Given the description of an element on the screen output the (x, y) to click on. 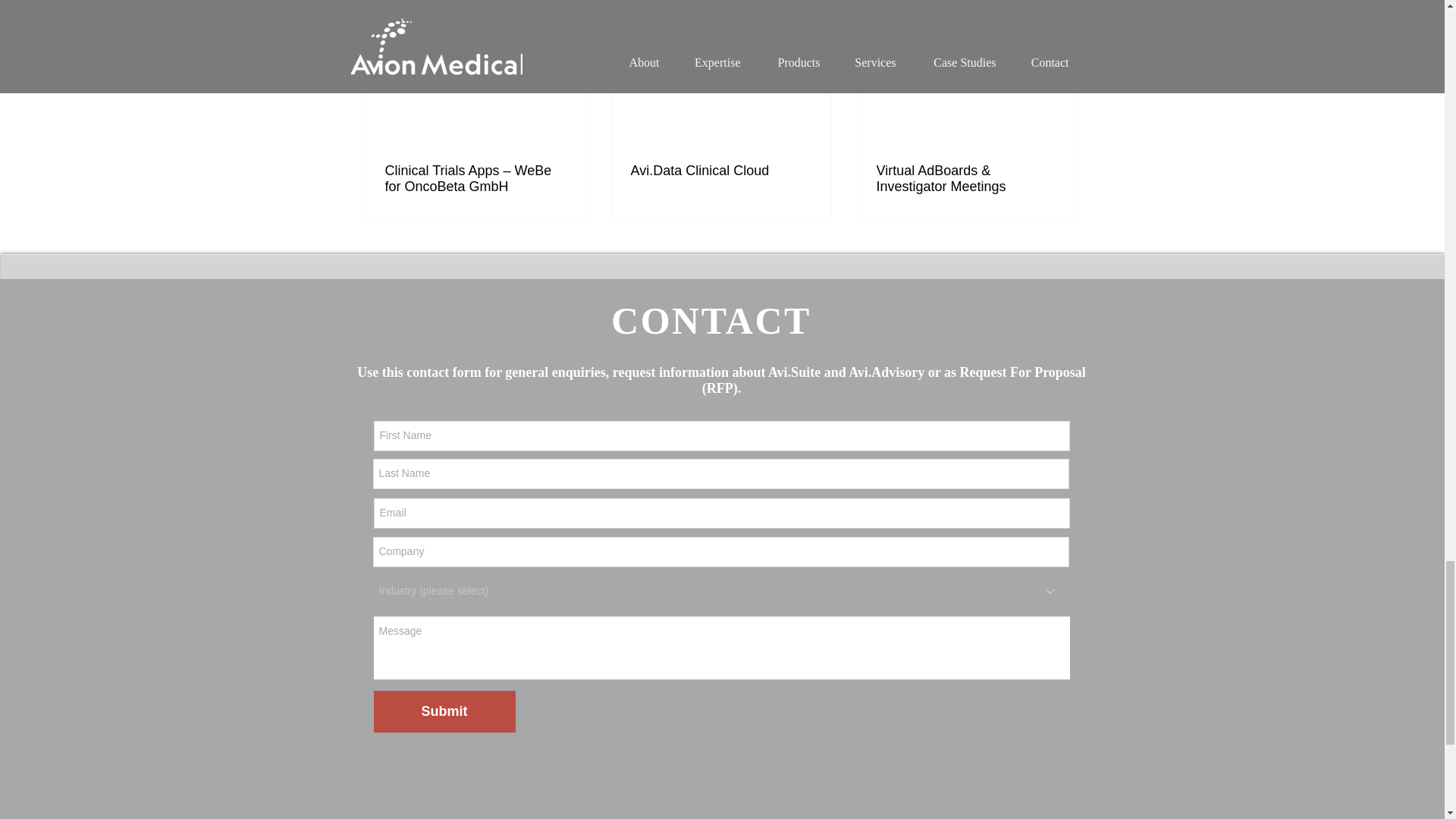
See All (1061, 2)
Submit (443, 711)
Avi.Data Clinical Cloud (721, 170)
